Given the description of an element on the screen output the (x, y) to click on. 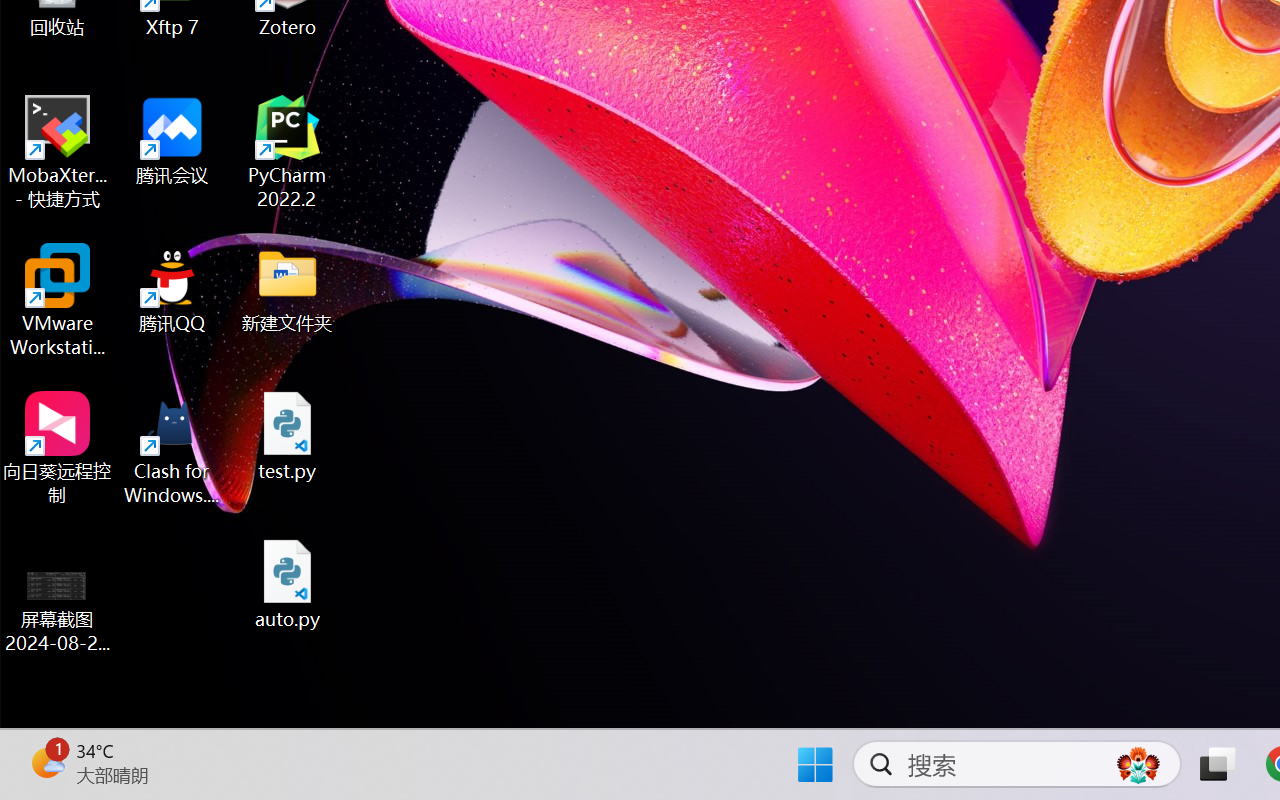
test.py (287, 436)
PyCharm 2022.2 (287, 152)
